Given the description of an element on the screen output the (x, y) to click on. 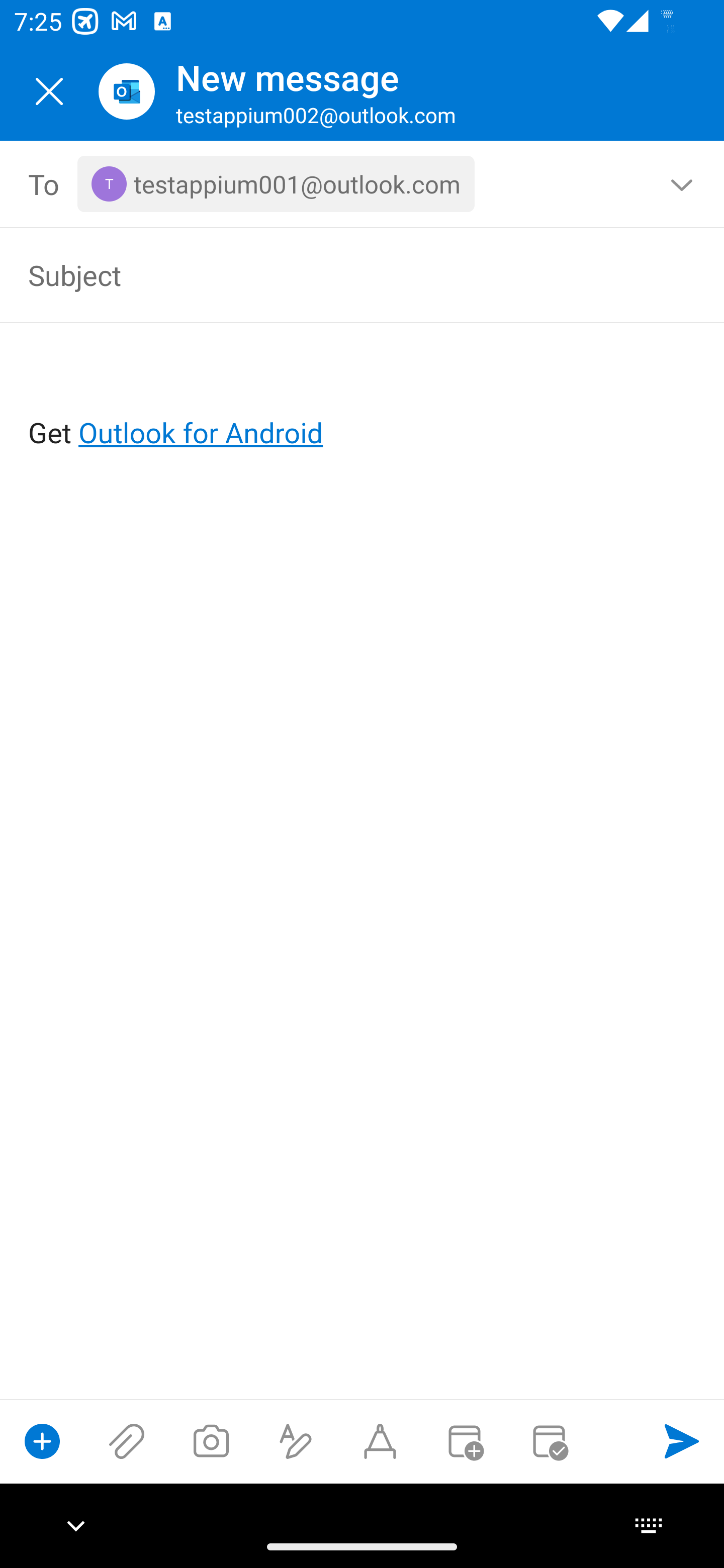
Close (49, 91)
To, 1 recipient <testappium001@outlook.com> (362, 184)
Subject (333, 274)


Get Outlook for Android (363, 400)
Show compose options (42, 1440)
Attach files (126, 1440)
Take a photo (210, 1440)
Show formatting options (295, 1440)
Start Ink compose (380, 1440)
Convert to event (464, 1440)
Send availability (548, 1440)
Send (681, 1440)
